Given the description of an element on the screen output the (x, y) to click on. 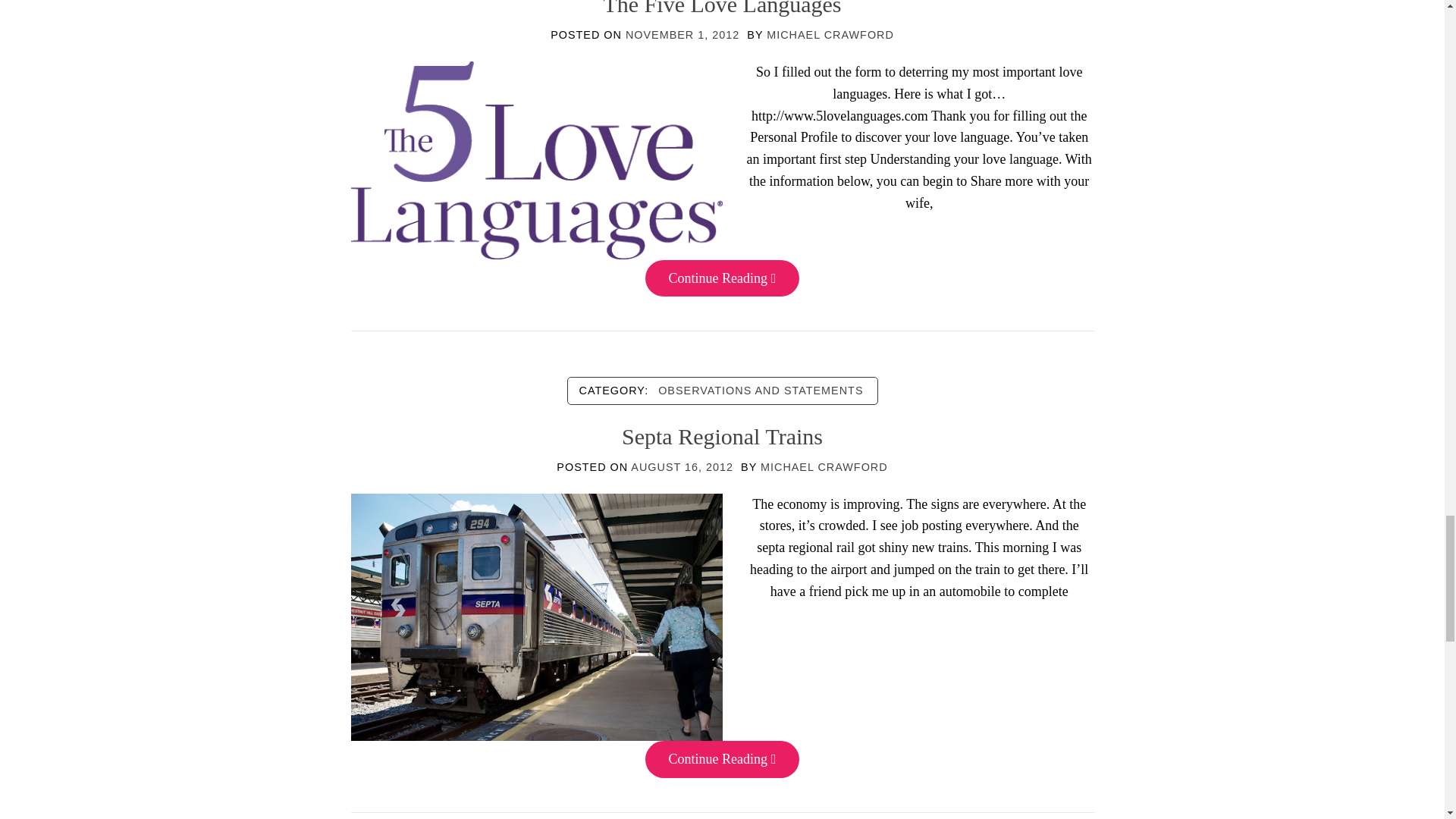
Septa Regional Trains (536, 615)
The Five Love Languages (536, 159)
